Given the description of an element on the screen output the (x, y) to click on. 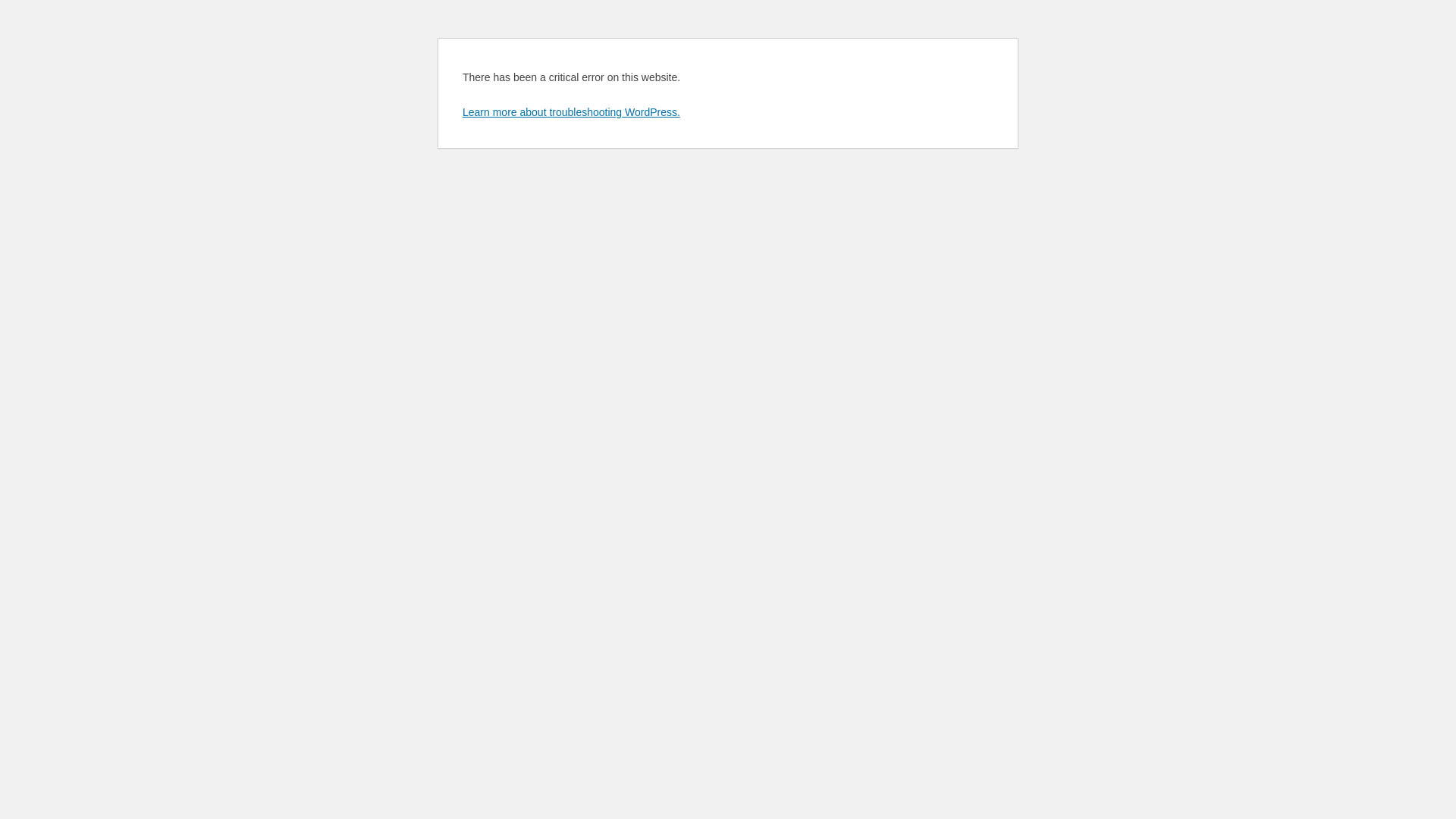
Learn more about troubleshooting WordPress. Element type: text (571, 112)
